Given the description of an element on the screen output the (x, y) to click on. 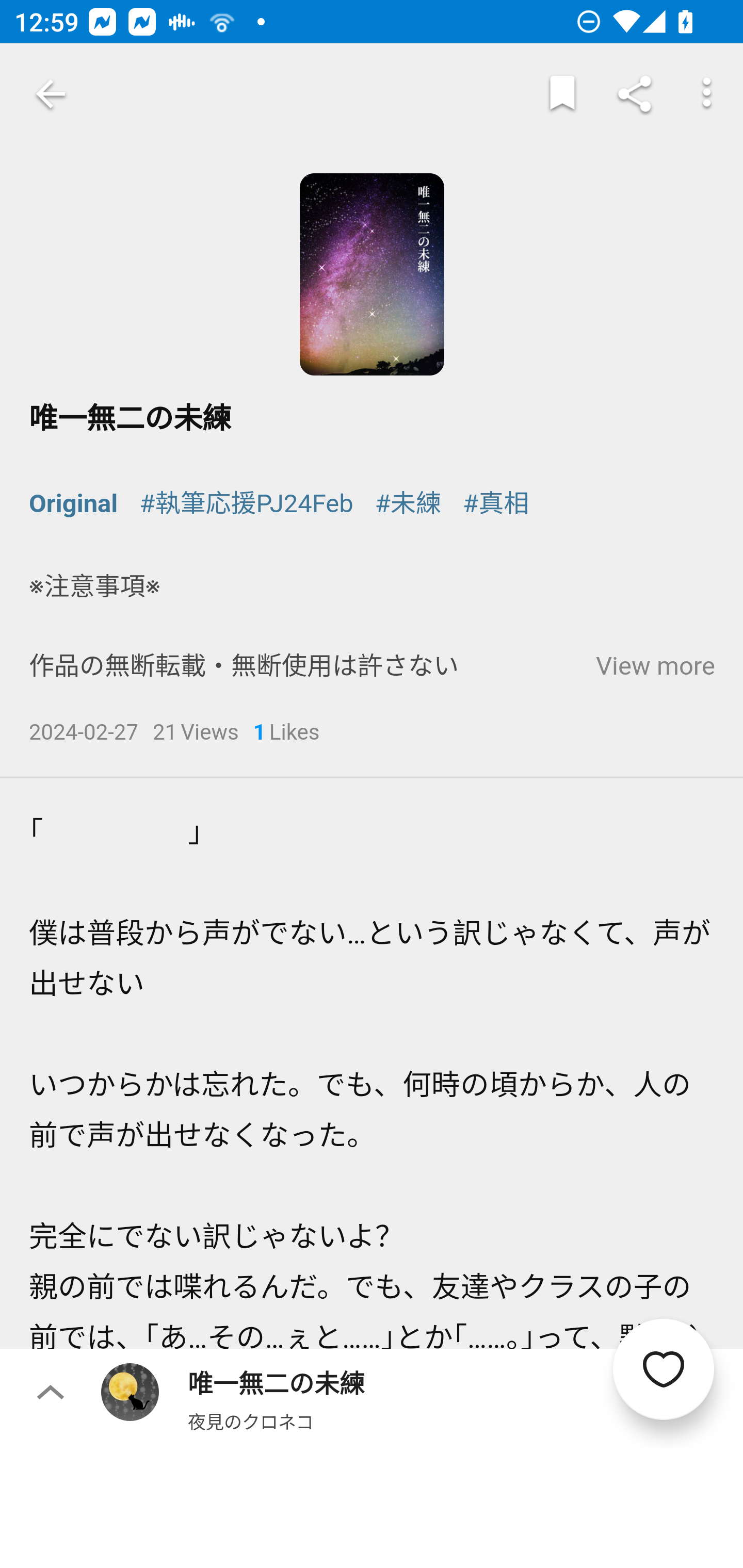
Navigate up (50, 93)
Markers (562, 93)
Share (634, 93)
More options (706, 93)
Original (73, 503)
#執筆応援PJ24Feb (245, 503)
#未練 (407, 503)
#真相 (496, 503)
View more (654, 666)
1Likes (286, 733)
夜見のクロネコ (250, 1421)
